Given the description of an element on the screen output the (x, y) to click on. 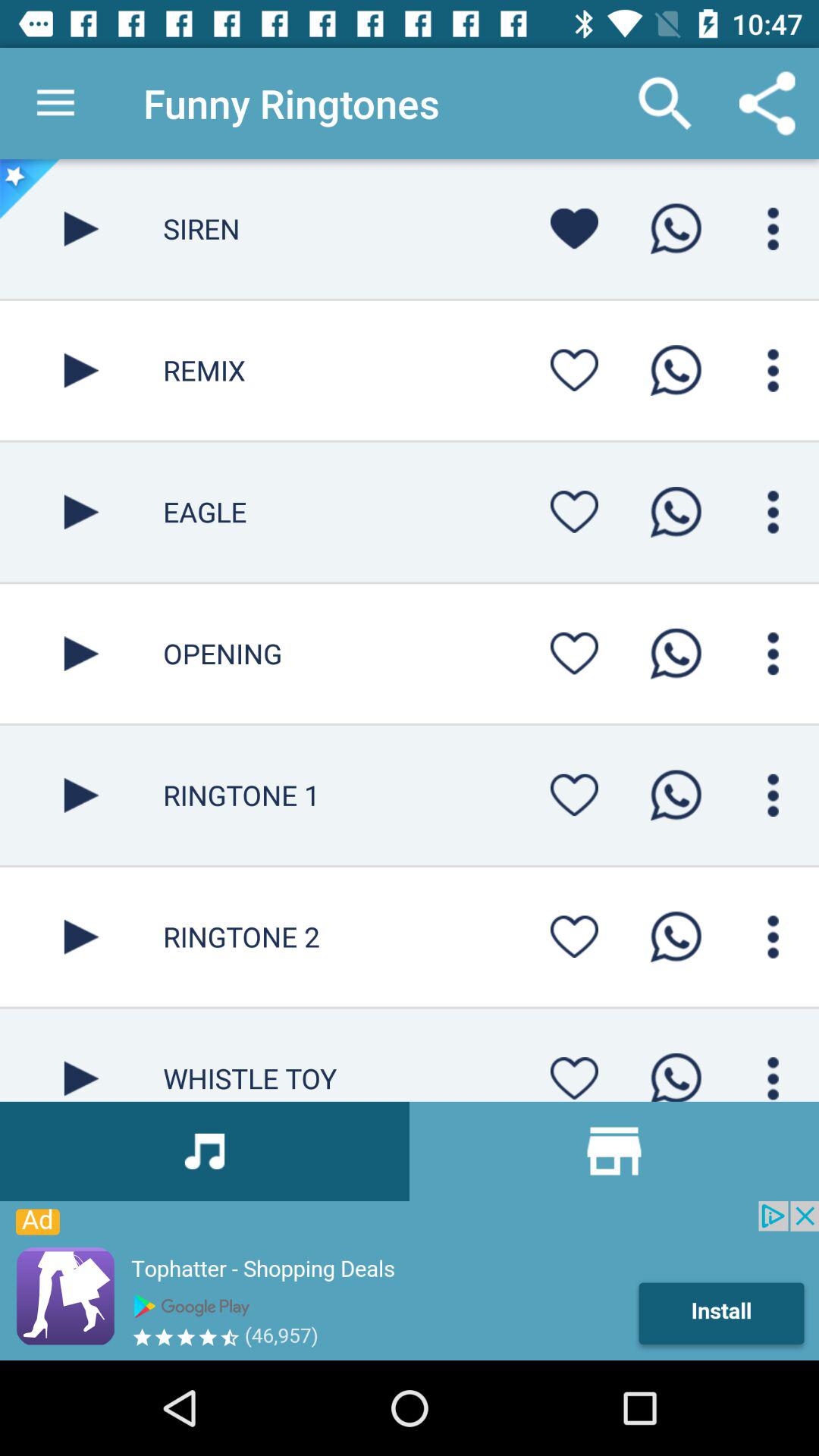
whatsapp (675, 228)
